Given the description of an element on the screen output the (x, y) to click on. 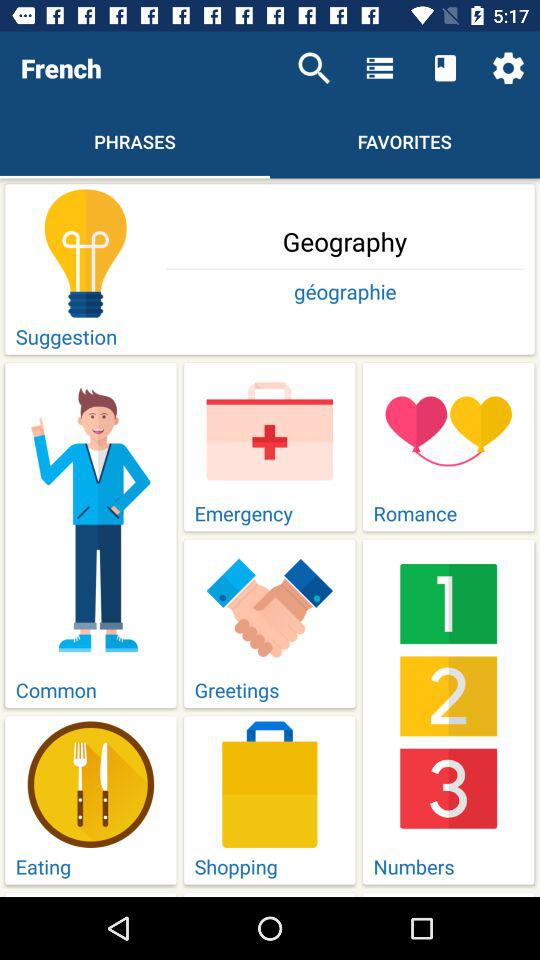
open icon above the favorites item (379, 67)
